Given the description of an element on the screen output the (x, y) to click on. 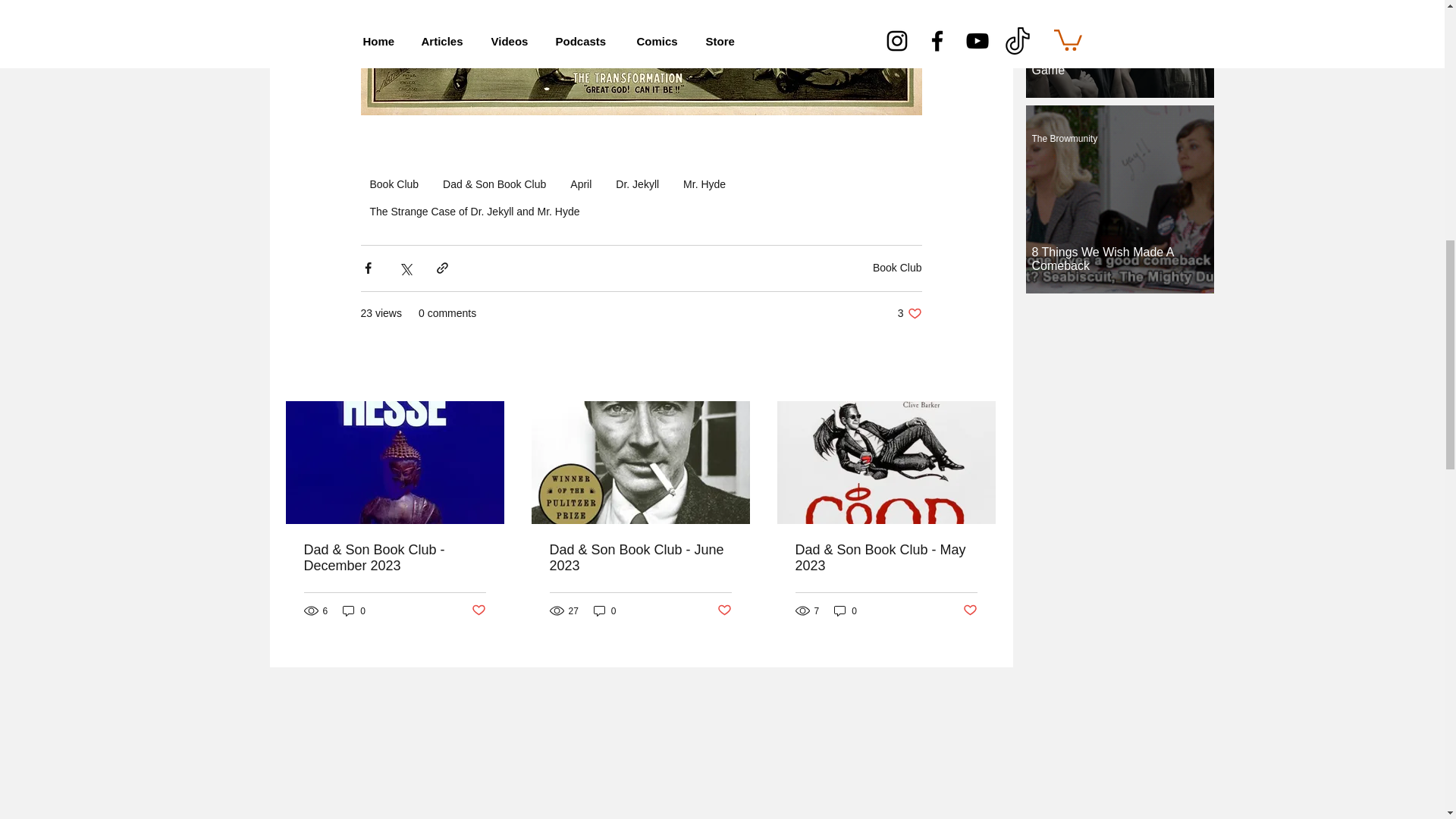
April (579, 183)
Book Club (394, 183)
The Browmunity (1063, 138)
Mr. Hyde (704, 183)
Dr. Jekyll (637, 183)
